Given the description of an element on the screen output the (x, y) to click on. 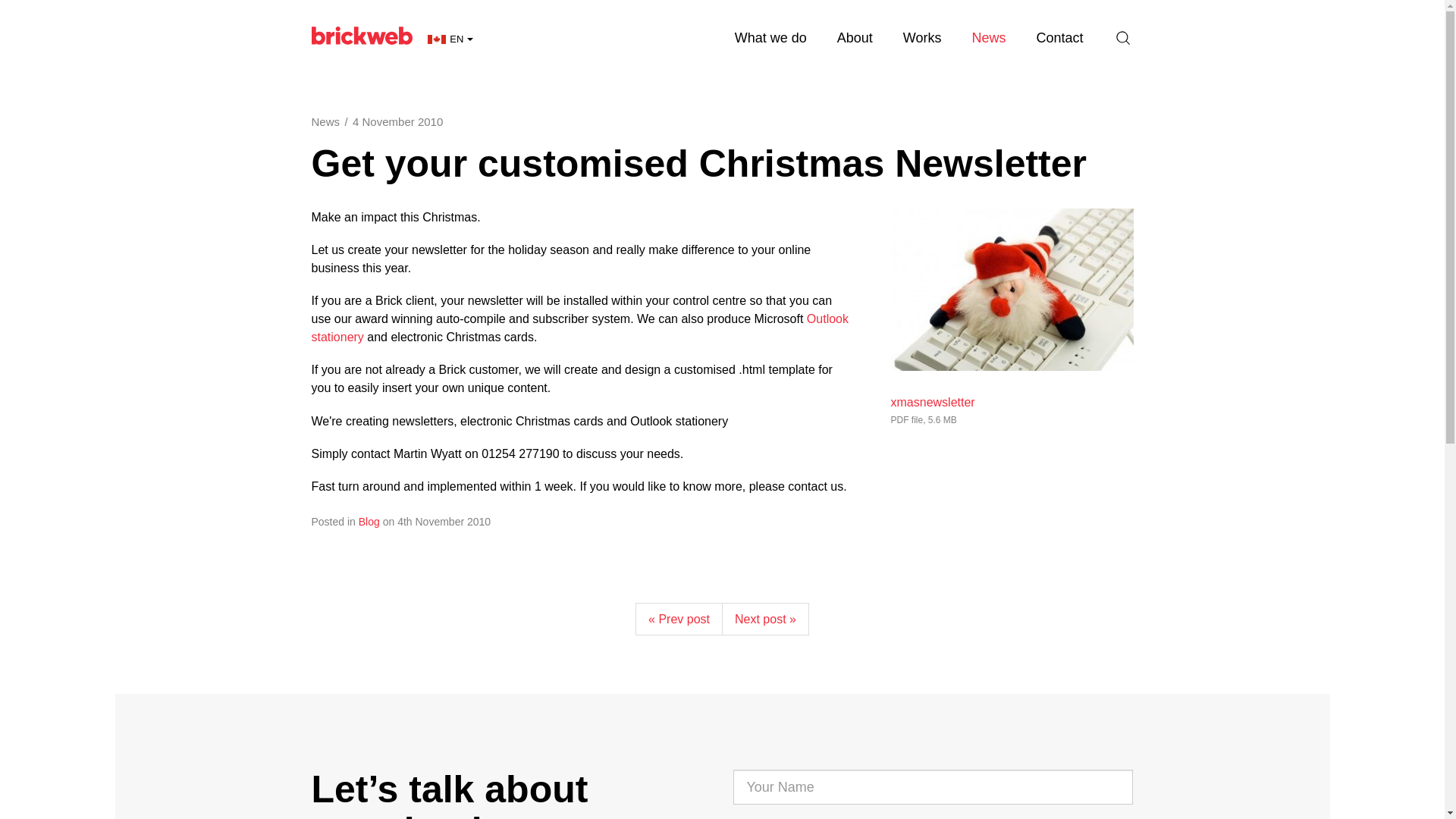
What we do (770, 37)
Brick technology news (988, 37)
About (855, 37)
santakeyboard (1010, 289)
News (325, 121)
Outlook stationery (579, 327)
4 November 2010 (397, 121)
News (988, 37)
EN (450, 39)
Contact (1058, 37)
xmasnewsletter (931, 402)
Blog (369, 521)
Works (922, 37)
